Given the description of an element on the screen output the (x, y) to click on. 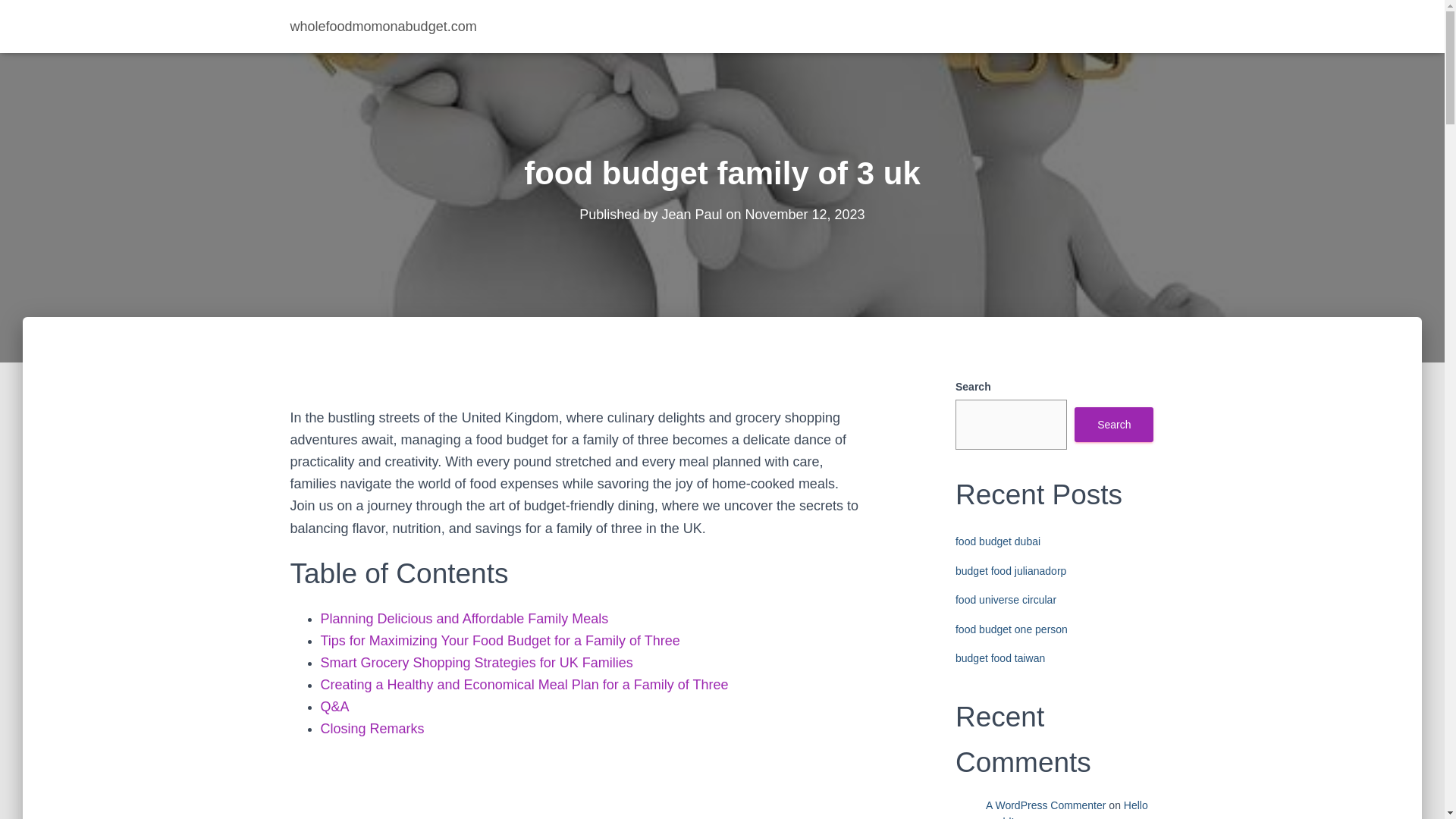
Hello world! (1066, 809)
wholefoodmomonabudget.com (383, 26)
budget food julianadorp (1010, 571)
food budget dubai (998, 541)
Jean Paul (691, 214)
Planning Delicious and Affordable Family Meals (464, 618)
Search (1113, 425)
wholefoodmomonabudget.com (383, 26)
Closing Remarks (371, 728)
